Given the description of an element on the screen output the (x, y) to click on. 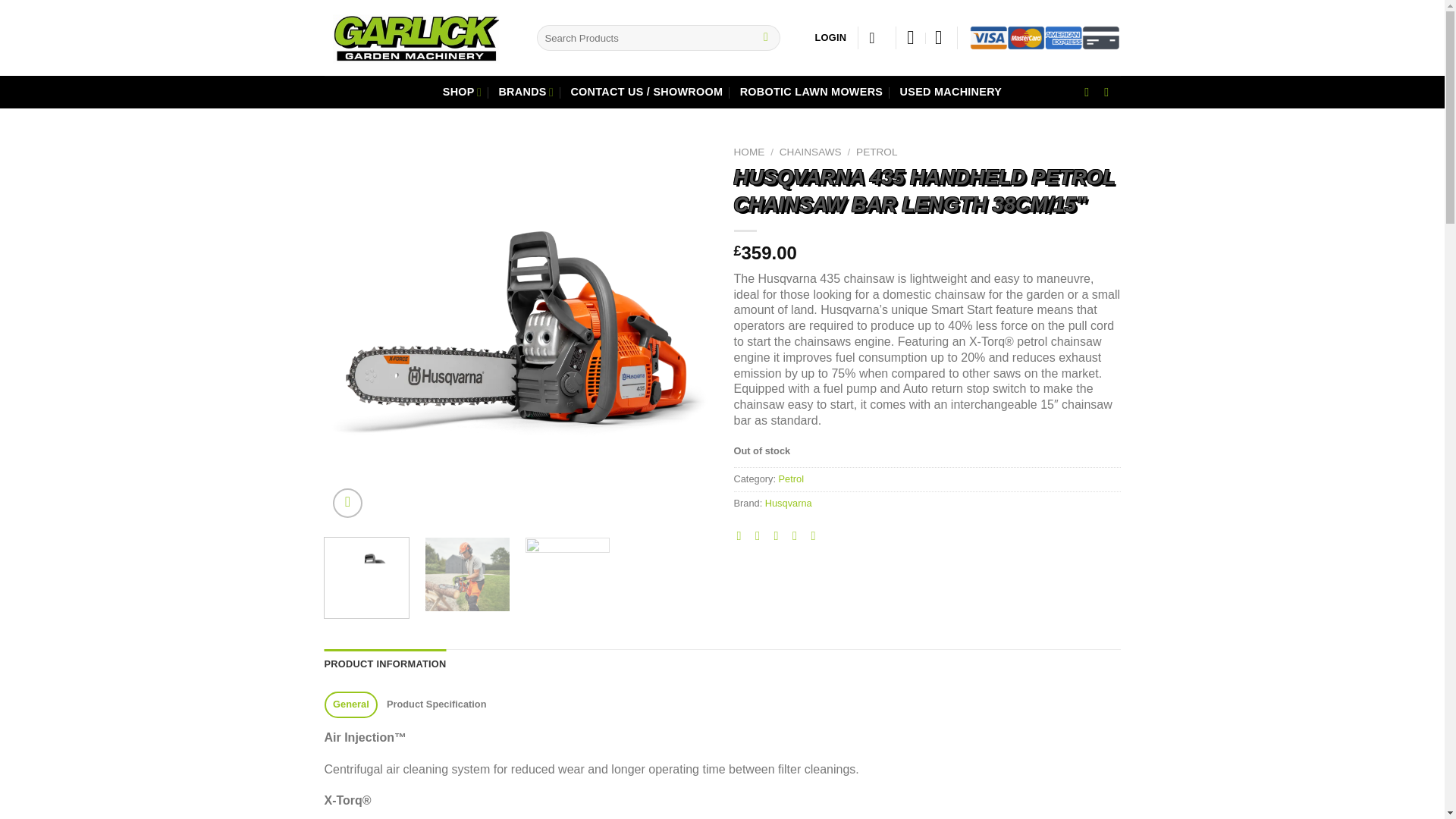
Follow on Instagram (1109, 91)
Login (831, 37)
Search (766, 37)
Zoom (347, 502)
SHOP (461, 92)
BRANDS (525, 92)
Follow on Facebook (1090, 91)
LOGIN (831, 37)
